Given the description of an element on the screen output the (x, y) to click on. 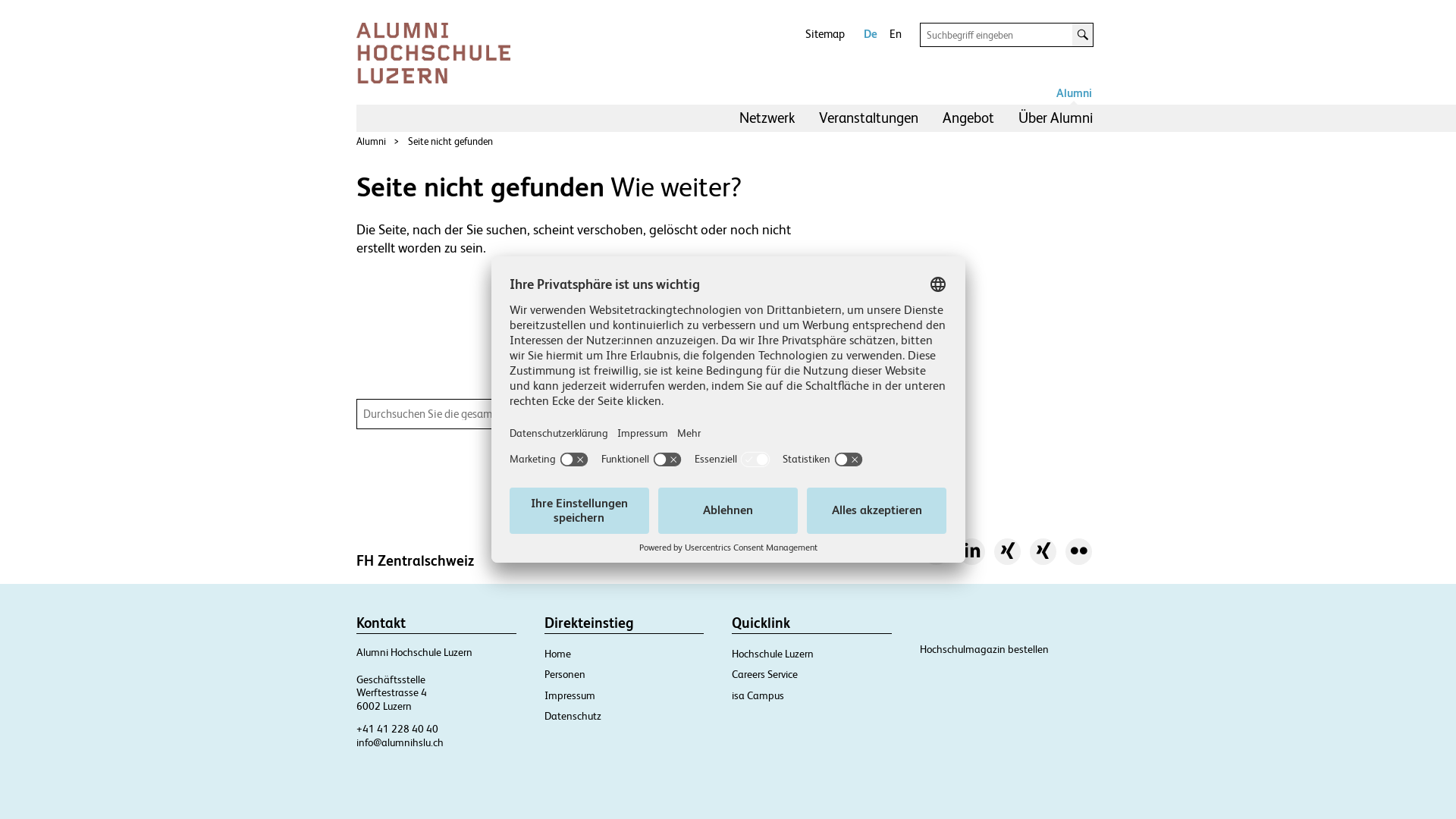
+41 41 228 40 40 Element type: text (397, 728)
Alumni Element type: text (1074, 93)
En Element type: text (894, 34)
Hochschulmagazin bestellen Element type: text (983, 649)
Netzwerk Element type: text (766, 117)
Veranstaltungen Element type: text (868, 117)
Alumni Element type: text (370, 141)
De Element type: text (869, 34)
Home Element type: text (557, 653)
Seite nicht gefunden Element type: text (449, 141)
Datenschutz Element type: text (572, 715)
Impressum Element type: text (569, 695)
Personen Element type: text (564, 674)
isa Campus Element type: text (757, 695)
Hochschule Luzern Element type: text (772, 653)
Careers Service Element type: text (764, 674)
Sitemap Element type: text (824, 34)
Suche starten Element type: text (744, 413)
Suche starten Element type: text (1082, 34)
info@alumnihslu.ch Element type: text (399, 742)
Angebot Element type: text (968, 117)
